Given the description of an element on the screen output the (x, y) to click on. 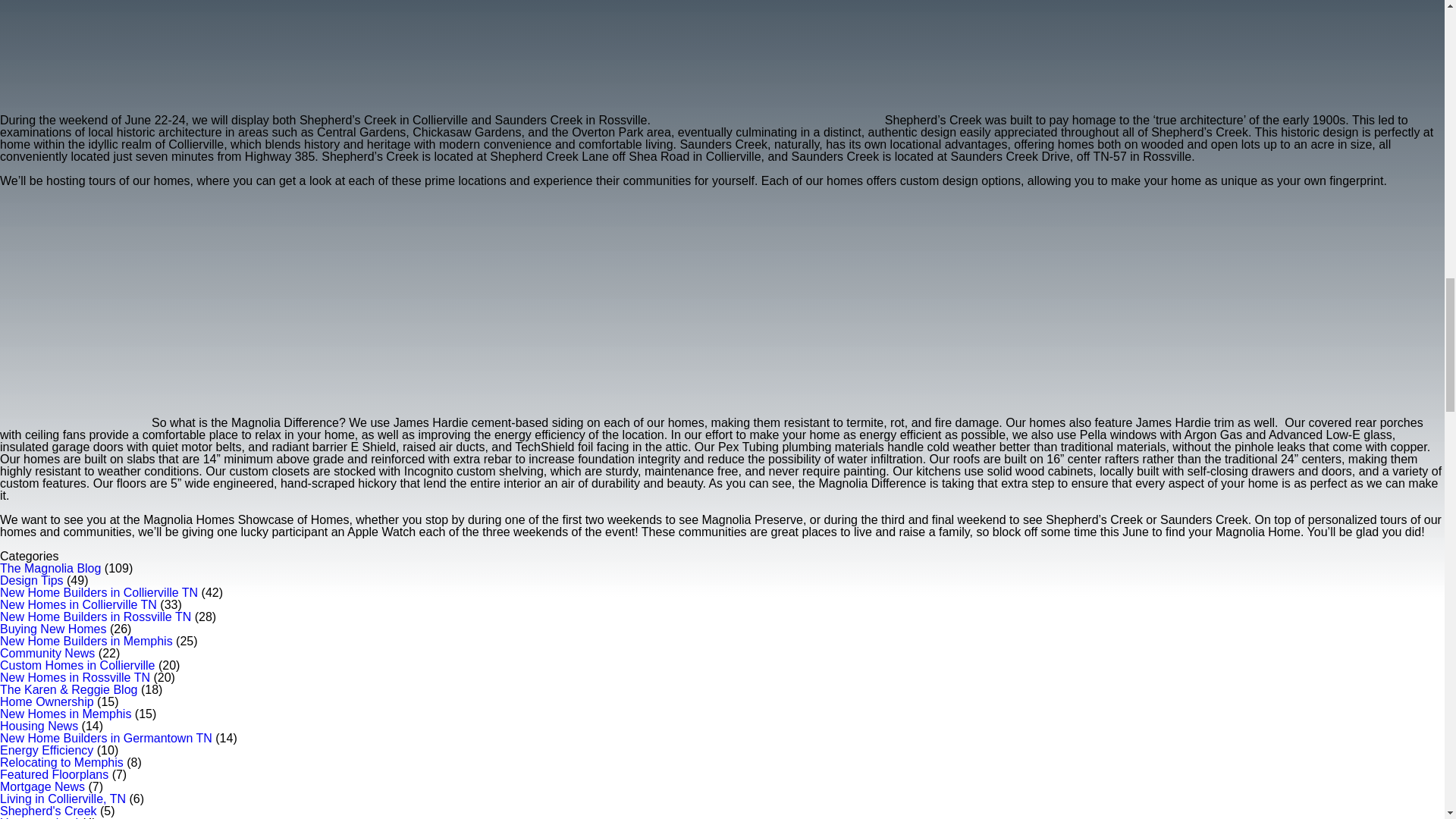
New Home Builders in Memphis (86, 640)
Home Ownership (47, 701)
Custom Homes in Collierville (77, 665)
New Home Builders in Collierville TN (99, 592)
Design Tips (32, 580)
Housing News (39, 725)
New Homes in Rossville TN (74, 676)
New Homes in Collierville TN (78, 604)
Energy Efficiency (46, 749)
Relocating to Memphis (61, 762)
New Home Builders in Rossville TN (95, 616)
New Homes in Memphis (65, 713)
Buying New Homes (53, 628)
Community News (47, 653)
The Magnolia Blog (50, 567)
